Given the description of an element on the screen output the (x, y) to click on. 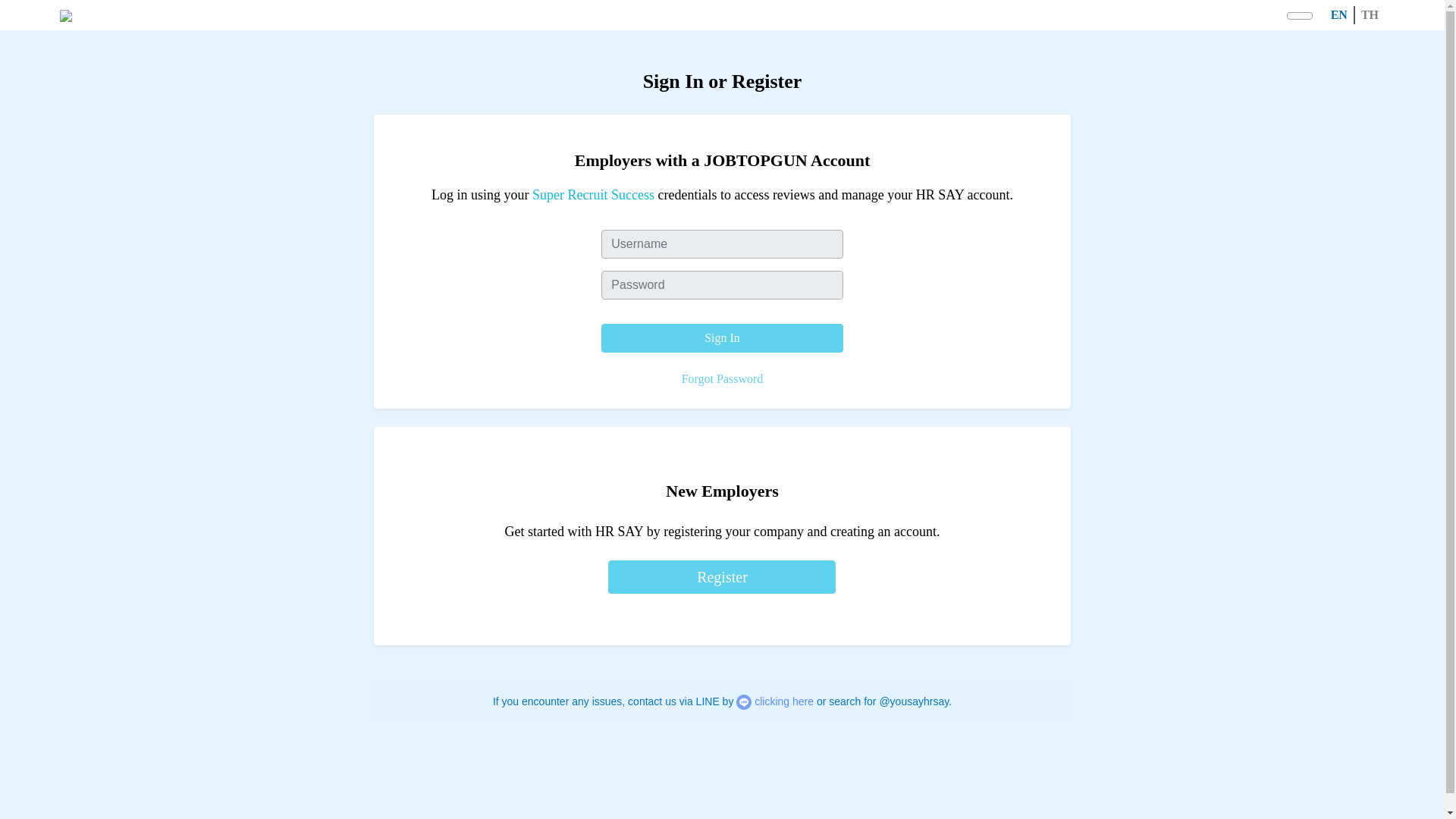
TH (1369, 14)
EN (1339, 14)
Forgot Password (721, 378)
Forgot Password (722, 378)
clicking here (783, 701)
Register (721, 576)
Sign In (722, 337)
